Given the description of an element on the screen output the (x, y) to click on. 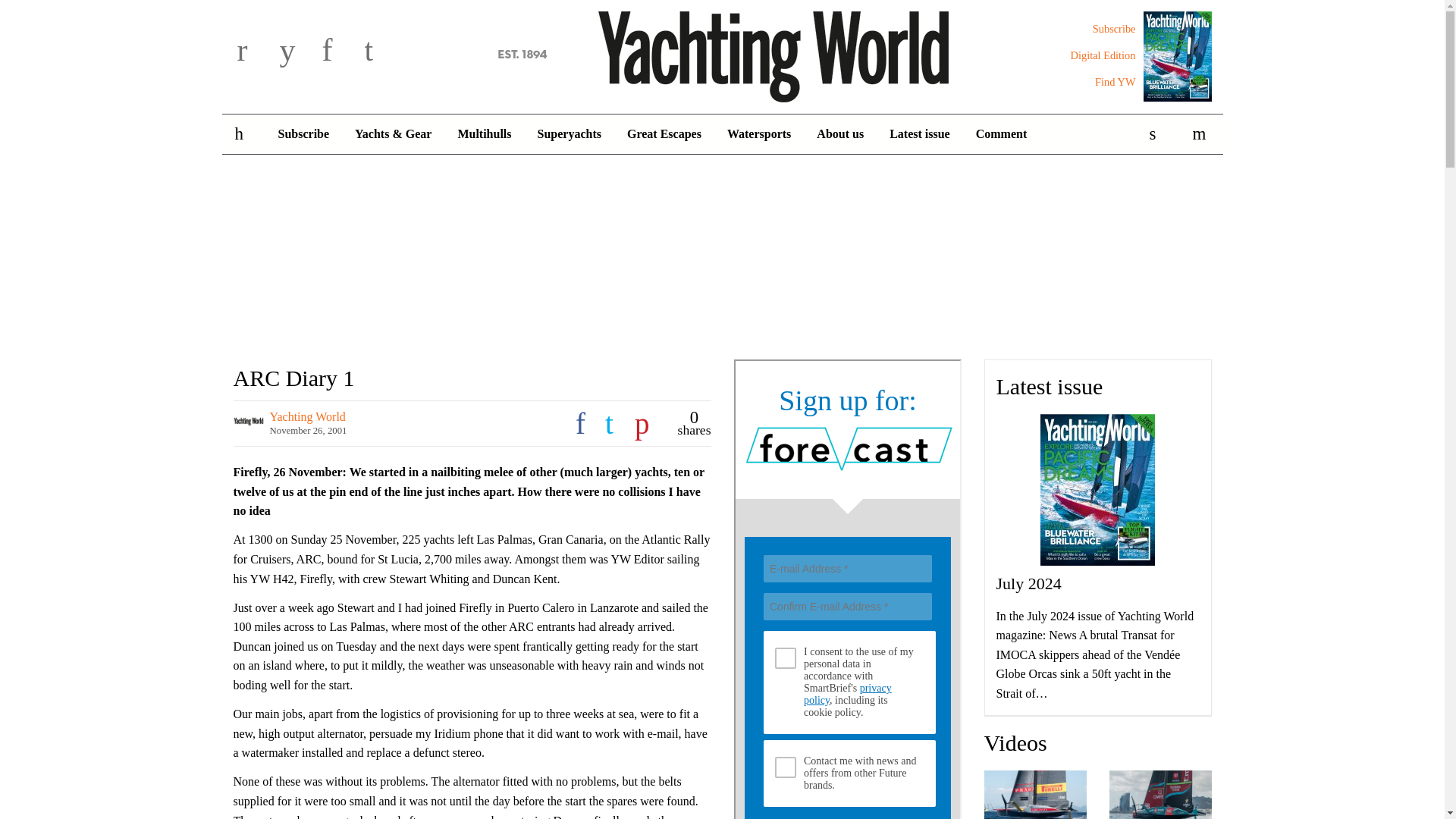
Digital Edition (1102, 55)
y (297, 52)
Superyachts (569, 133)
Yachting World (721, 53)
r (254, 52)
Find YW (1114, 81)
Yachting World (721, 53)
Subscribe (303, 133)
Digital Edition (1102, 55)
Find YW (1114, 81)
Subscribe (1114, 28)
f (339, 52)
Subscribe (1114, 28)
Yachting World's Profile (307, 416)
Great Escapes (664, 133)
